Given the description of an element on the screen output the (x, y) to click on. 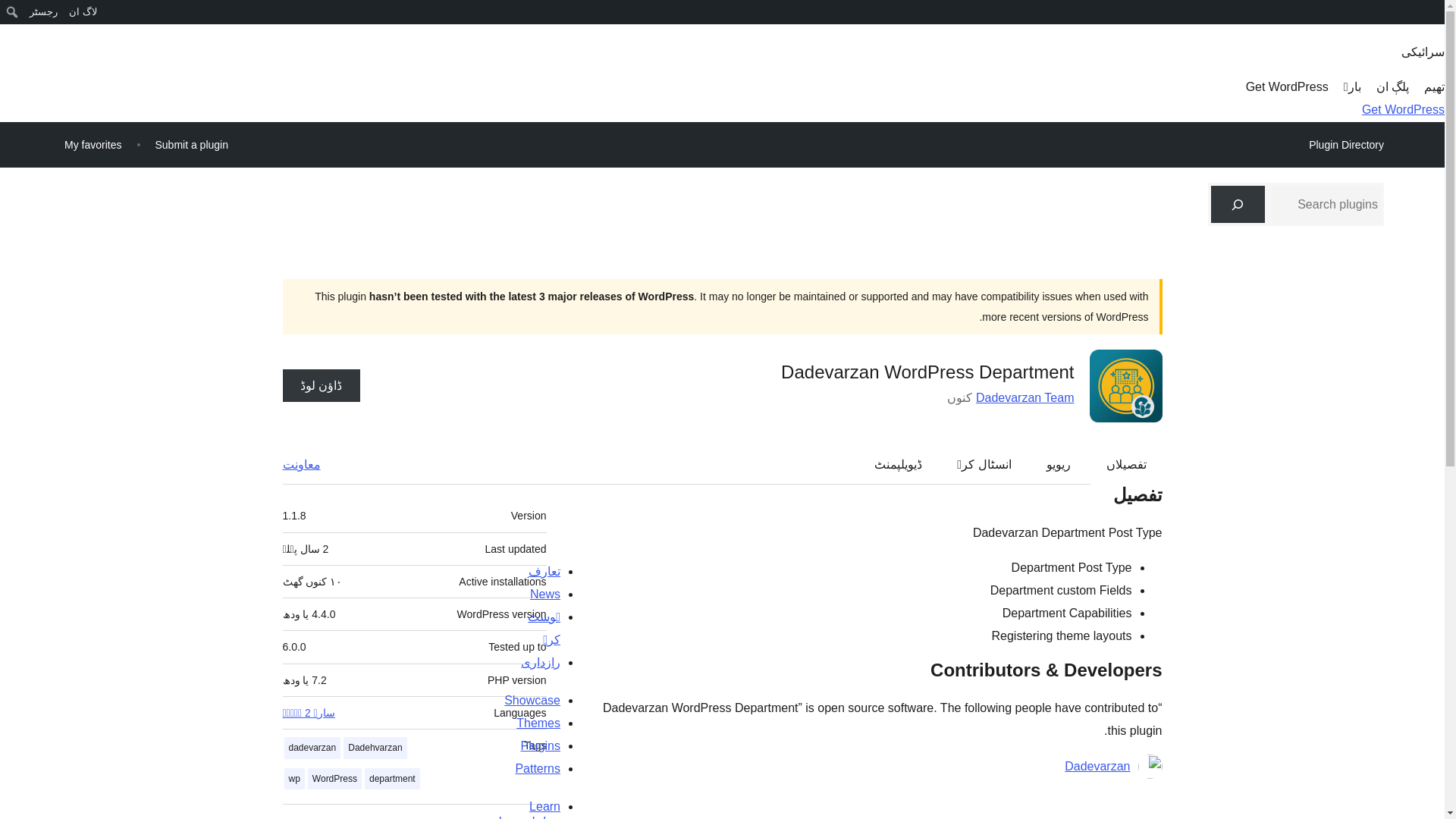
Get WordPress (1286, 87)
My favorites (93, 144)
Dadevarzan (1096, 766)
Submit a plugin (191, 144)
Plugin Directory (1345, 144)
Dadevarzan Team (1024, 397)
